Given the description of an element on the screen output the (x, y) to click on. 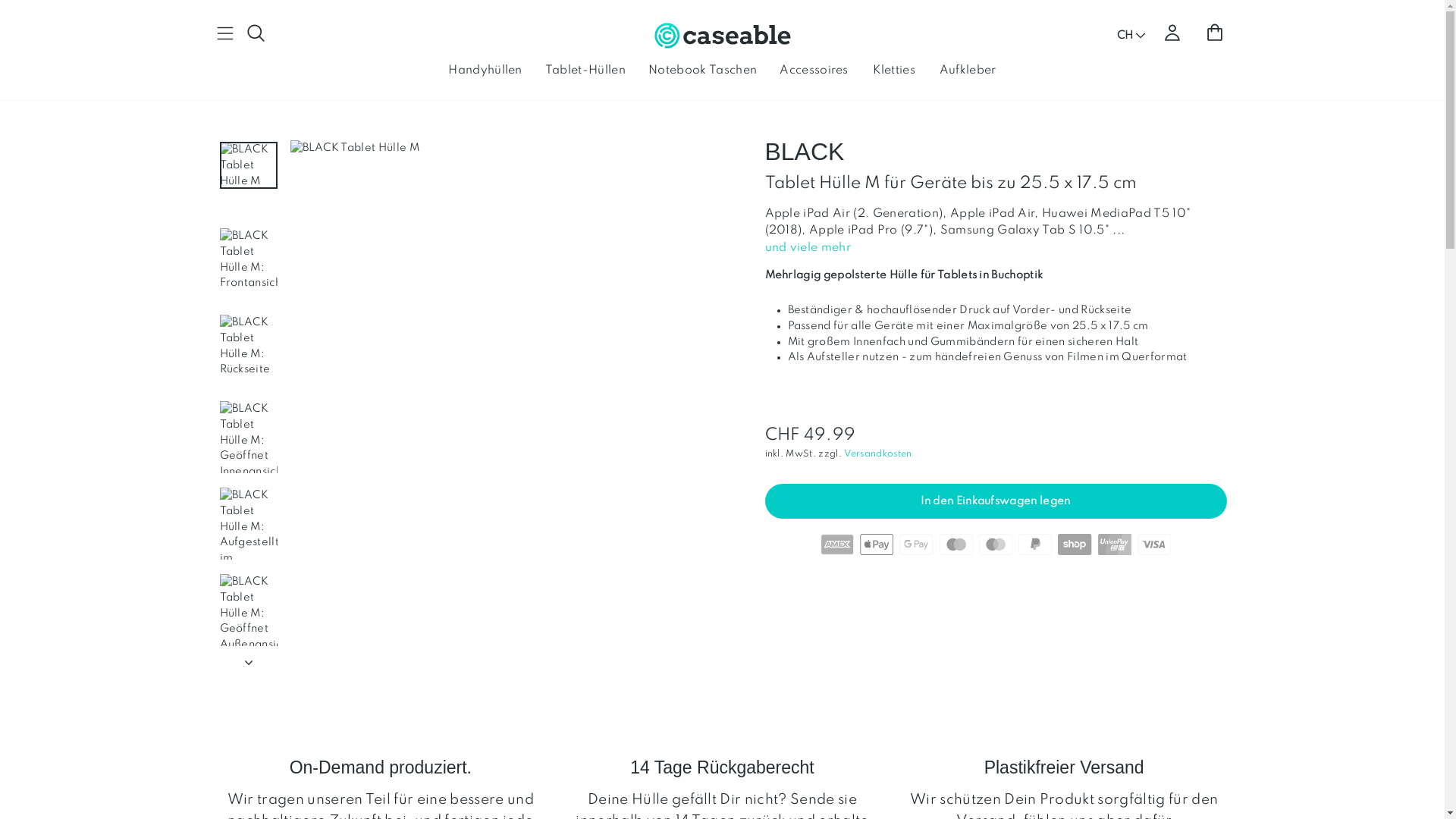
Accessoires Element type: text (813, 70)
Kletties Element type: text (893, 70)
Notebook Taschen Element type: text (702, 70)
und viele mehr Element type: text (807, 247)
Direkt zum Inhalt Element type: text (0, 0)
Versandkosten Element type: text (877, 454)
Aufkleber Element type: text (967, 70)
In den Einkaufswagen legen Element type: text (995, 500)
